Given the description of an element on the screen output the (x, y) to click on. 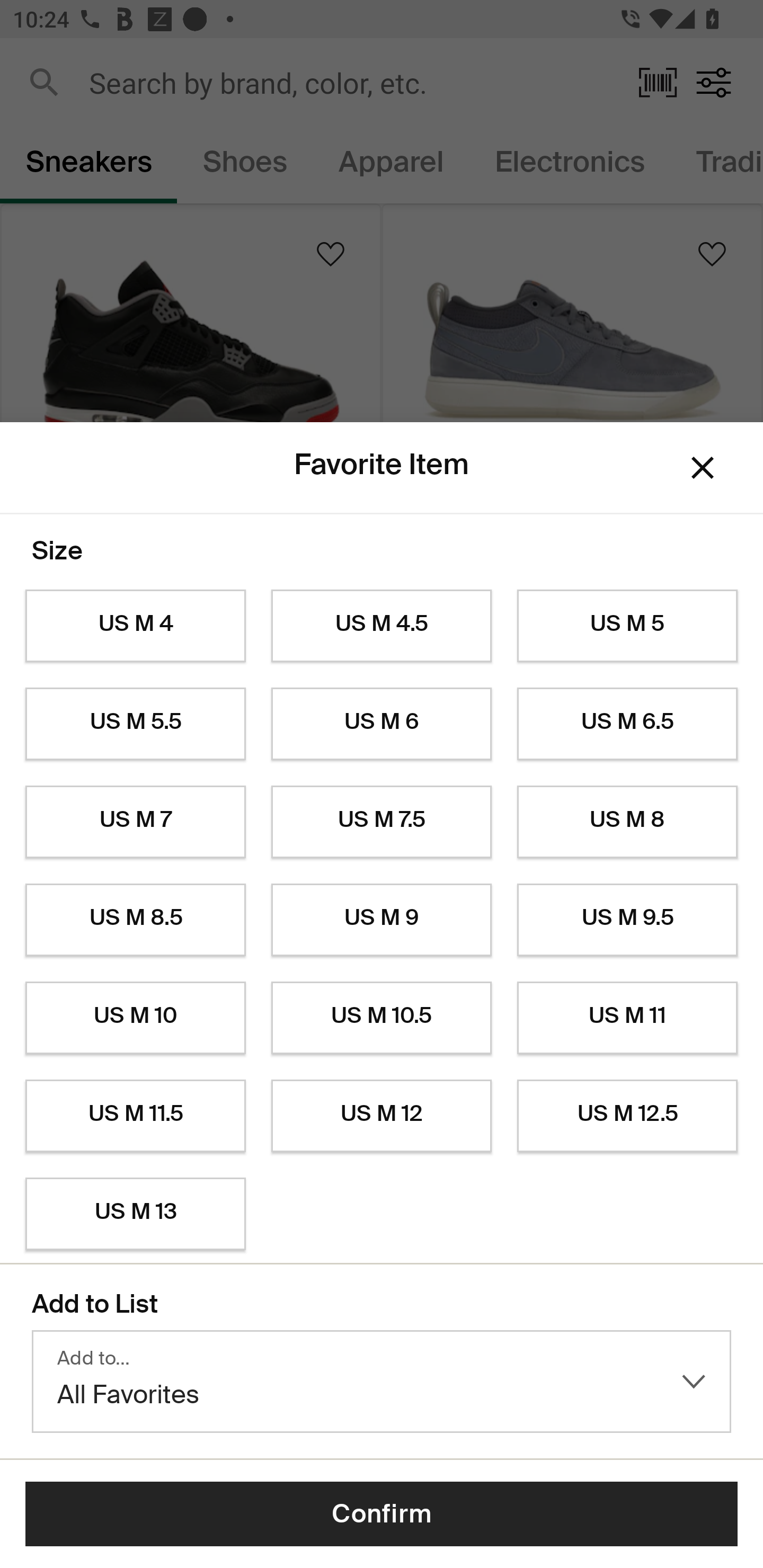
Dismiss (702, 467)
US M 4 (135, 626)
US M 4.5 (381, 626)
US M 5 (627, 626)
US M 5.5 (135, 724)
US M 6 (381, 724)
US M 6.5 (627, 724)
US M 7 (135, 822)
US M 7.5 (381, 822)
US M 8 (627, 822)
US M 8.5 (135, 919)
US M 9 (381, 919)
US M 9.5 (627, 919)
US M 10 (135, 1018)
US M 10.5 (381, 1018)
US M 11 (627, 1018)
US M 11.5 (135, 1116)
US M 12 (381, 1116)
US M 12.5 (627, 1116)
US M 13 (135, 1214)
Add to… All Favorites (381, 1381)
Confirm (381, 1513)
